Given the description of an element on the screen output the (x, y) to click on. 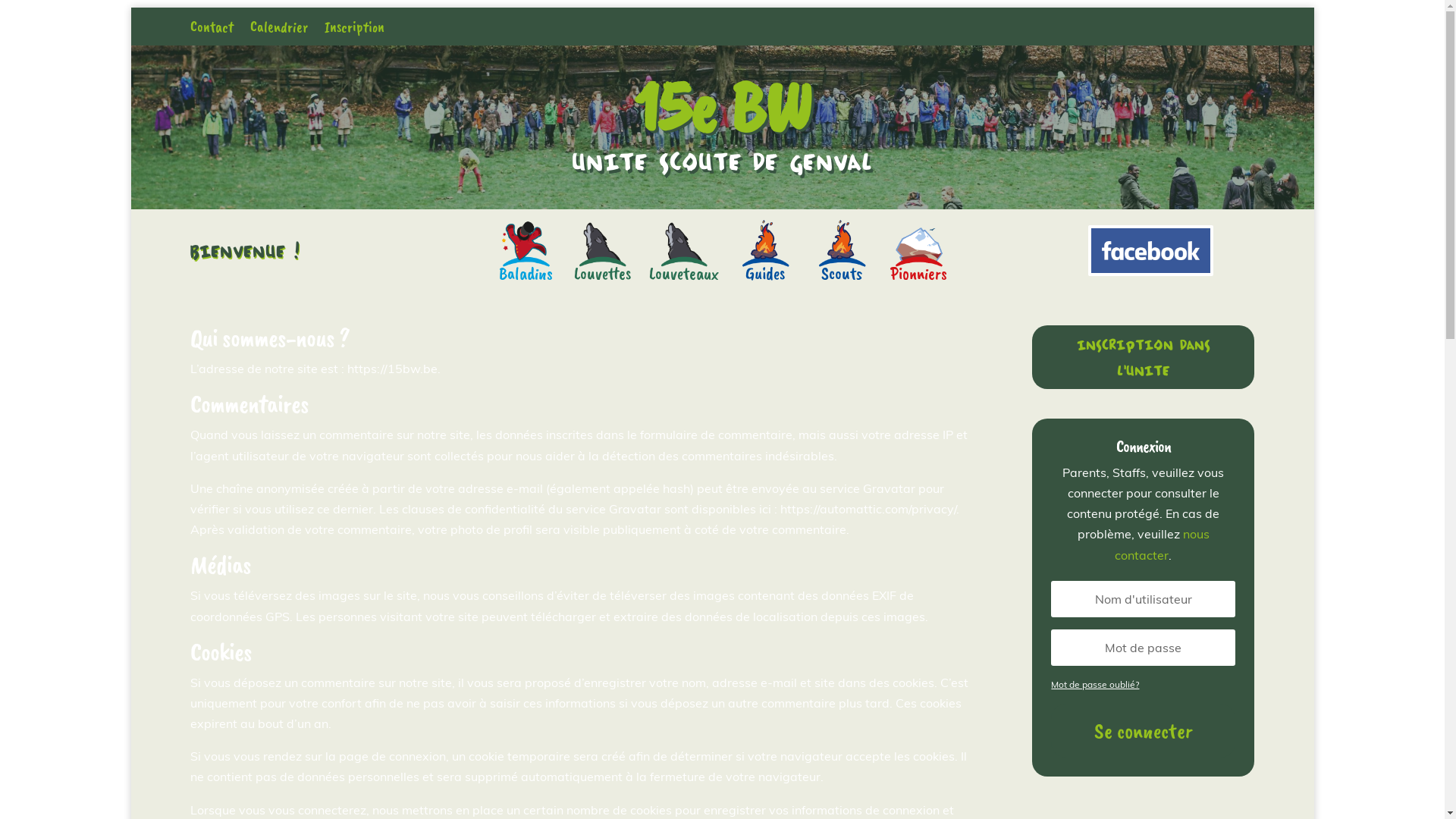
Guides Element type: text (765, 250)
Louvettes Element type: text (602, 250)
2000px-Facebook_New_Logo_2015.svg_ Element type: hover (1150, 250)
nous contacter Element type: text (1161, 543)
Se connecter Element type: text (1143, 730)
Baladins Element type: text (525, 250)
Inscription dans l'unite Element type: text (1143, 357)
Louveteaux Element type: text (683, 250)
Inscription Element type: text (354, 29)
Calendrier Element type: text (278, 29)
Scouts Element type: text (842, 250)
Pionniers Element type: text (918, 250)
Contact Element type: text (210, 29)
